Given the description of an element on the screen output the (x, y) to click on. 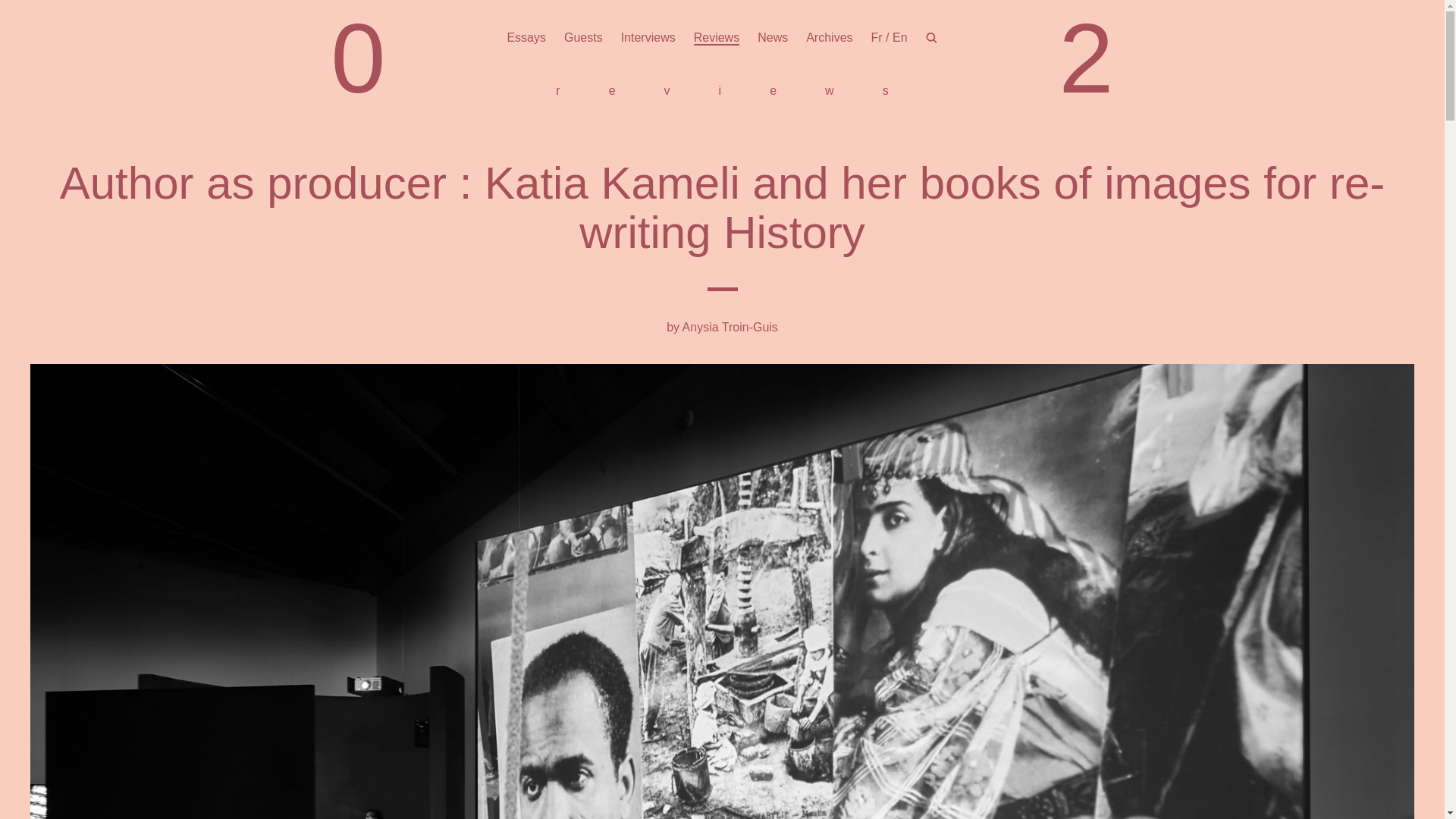
Essays (526, 37)
Archives (828, 37)
Reviews (716, 38)
News (772, 37)
En (899, 37)
Interviews (648, 37)
Guests (583, 37)
